Given the description of an element on the screen output the (x, y) to click on. 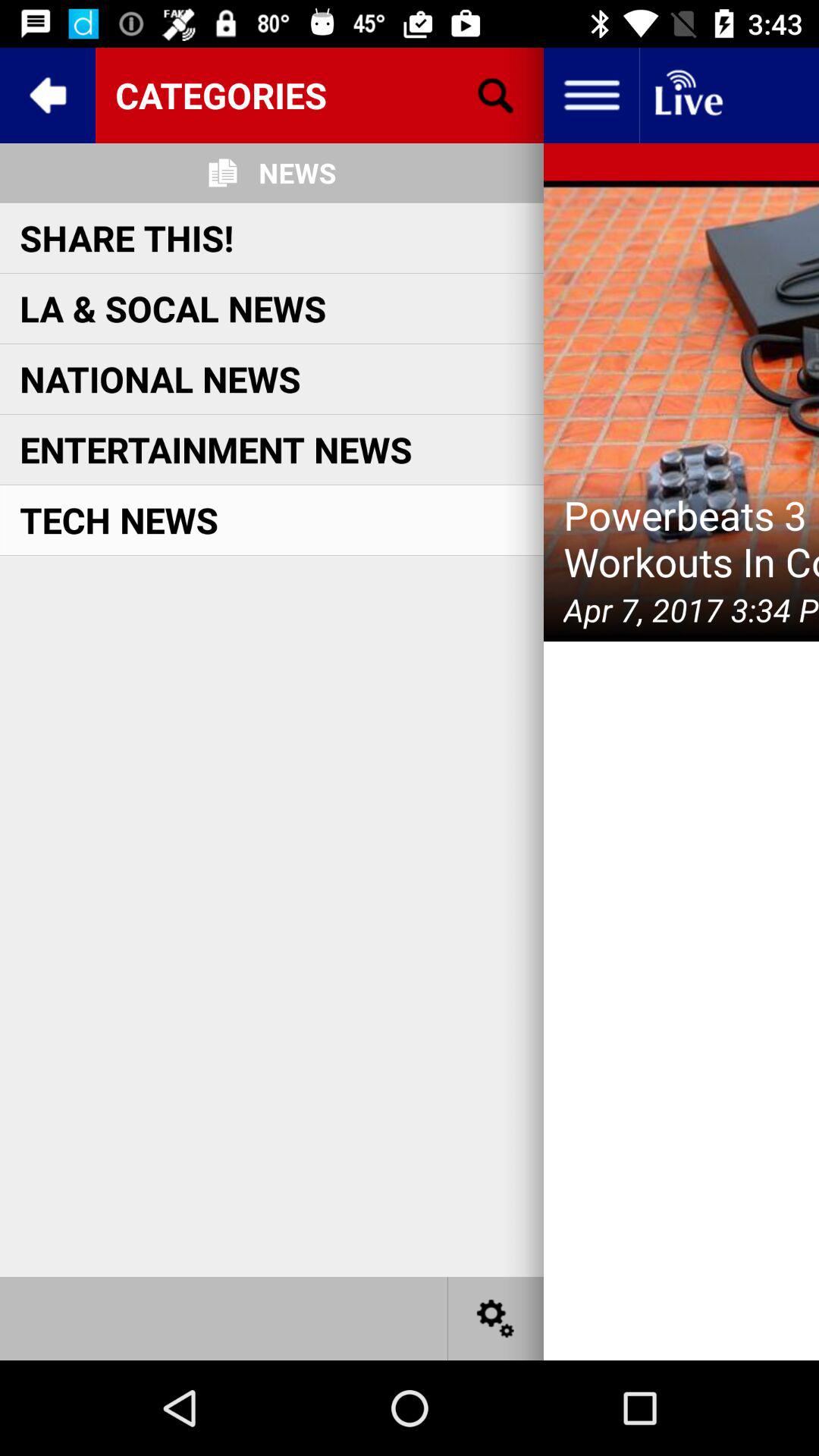
flip to la & socal news item (172, 308)
